Given the description of an element on the screen output the (x, y) to click on. 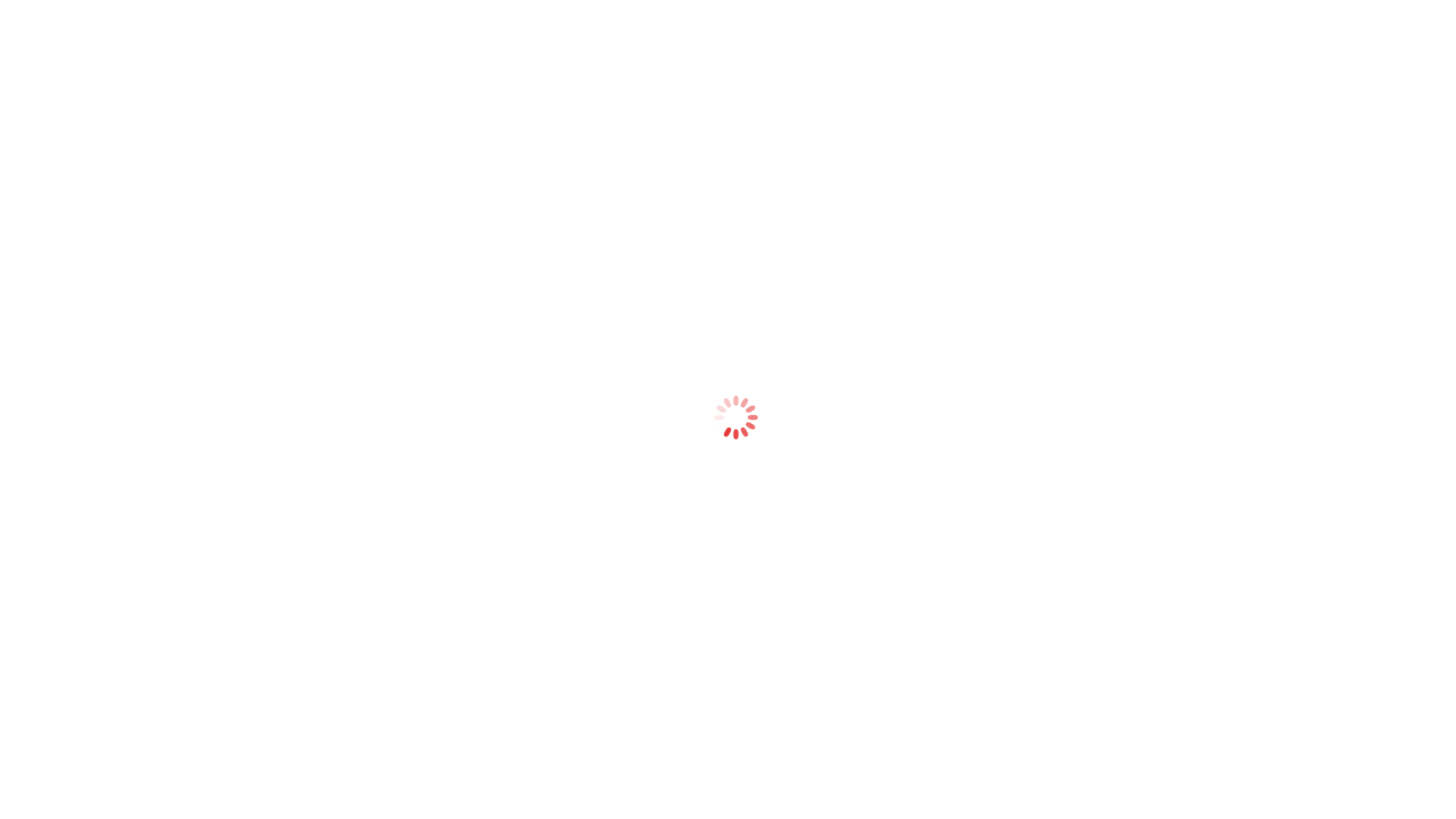
Mitglieder Element type: text (38, 601)
News & Medien Element type: text (52, 637)
Politik Element type: text (29, 613)
Mitglieder Element type: text (437, 66)
BEGASOFT Element type: text (102, 771)
Ehrenmitglieder Element type: text (727, 714)
Gehe zu bekmu Element type: hover (96, 46)
Home Element type: text (29, 577)
Home Element type: text (315, 66)
BernerKMU Element type: text (96, 752)
KMU Frauen Element type: text (45, 661)
Extranet Element type: text (704, 23)
News & Medien Element type: text (671, 66)
Kontakt Element type: text (888, 66)
KMU Frauen Element type: text (819, 66)
Impressum Element type: text (41, 705)
Agenda Element type: text (749, 66)
Politik Element type: text (495, 66)
Einzelmitglieder Element type: text (727, 682)
Dienstleistungen Element type: text (54, 625)
Mitglieder Element type: text (727, 551)
Kontakt Element type: text (32, 674)
Mitglied werden Element type: text (727, 744)
Gewerbevereine Element type: text (727, 589)
Dienstleistungen Element type: text (571, 66)
Mitgliederverwaltung Element type: text (624, 23)
Agenda Element type: text (33, 649)
